Given the description of an element on the screen output the (x, y) to click on. 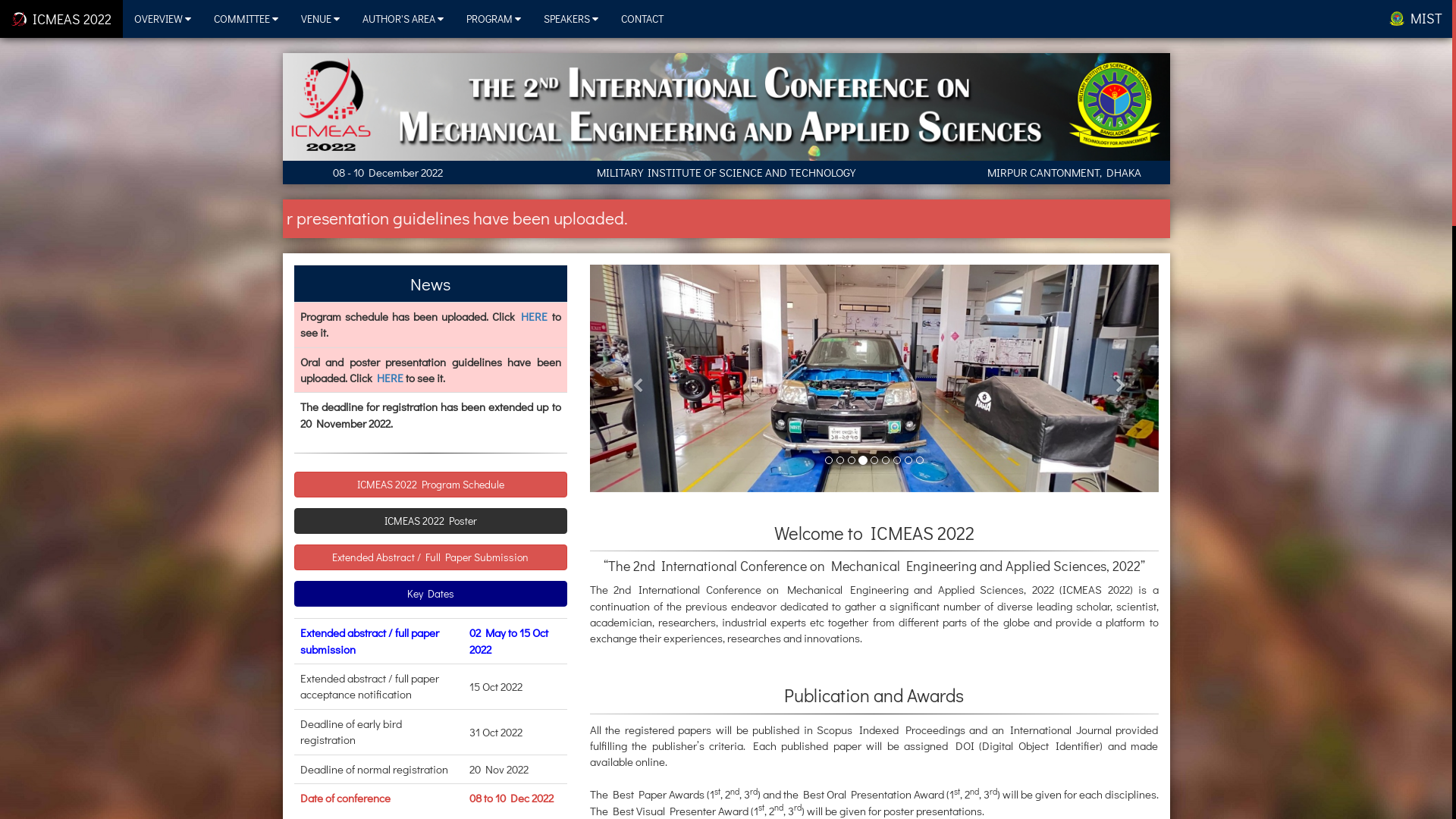
Key Dates Element type: text (430, 593)
ICMEAS 2022 Element type: text (61, 18)
VENUE Element type: text (320, 18)
HERE Element type: text (533, 315)
CONTACT Element type: text (641, 18)
ICMEAS 2022 Program Schedule Element type: text (430, 484)
COMMITTEE Element type: text (245, 18)
Extended Abstract / Full Paper Submission Element type: text (430, 557)
MIST Element type: text (1415, 18)
OVERVIEW Element type: text (162, 18)
HERE Element type: text (389, 377)
Previous Element type: text (632, 378)
AUTHOR'S AREA Element type: text (403, 18)
Next Element type: text (1115, 378)
PROGRAM Element type: text (493, 18)
SPEAKERS Element type: text (570, 18)
ICMEAS 2022 Poster Element type: text (430, 520)
